Given the description of an element on the screen output the (x, y) to click on. 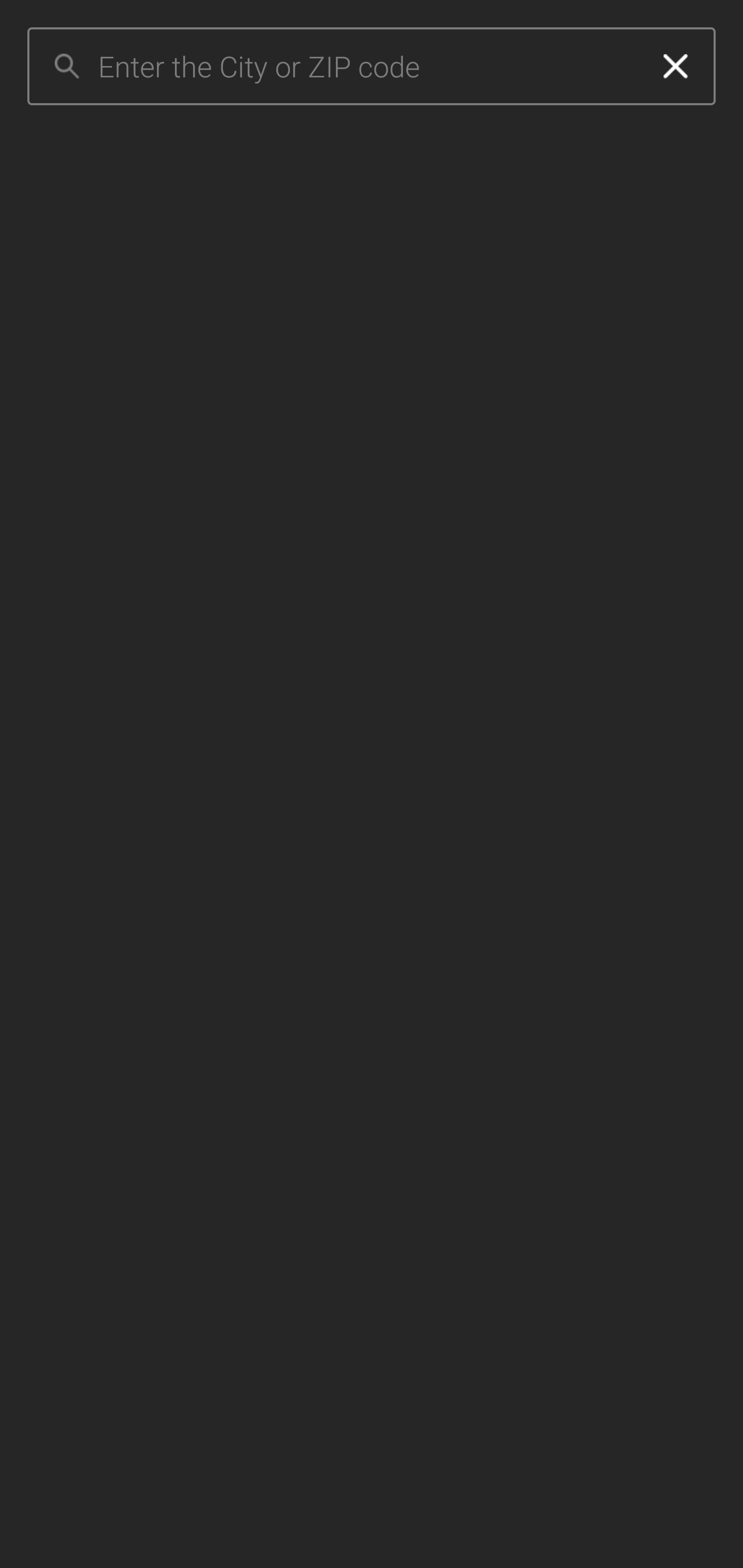
Enter the City or ZIP code (367, 66)
